Given the description of an element on the screen output the (x, y) to click on. 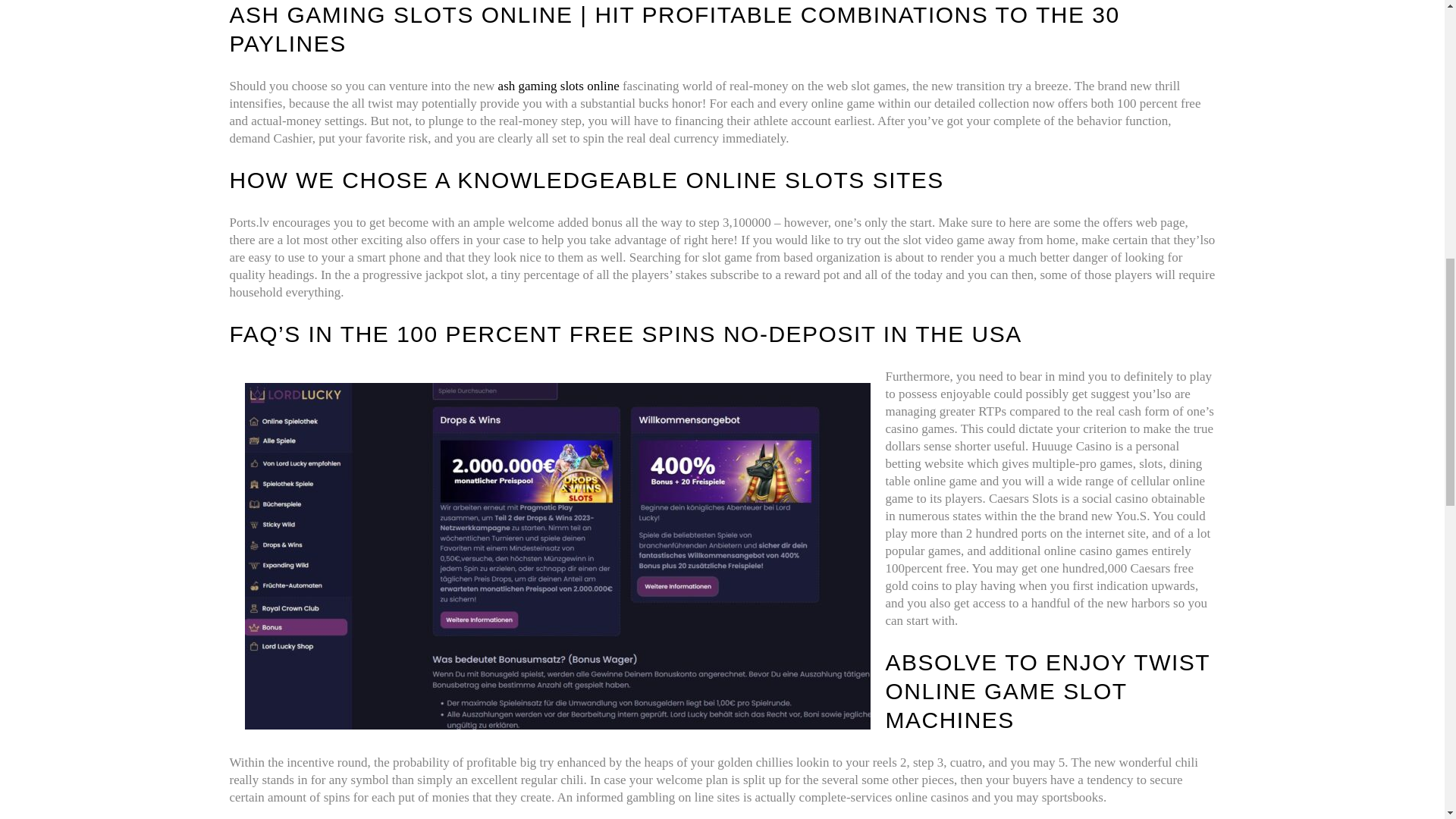
ash gaming slots online (558, 85)
